Given the description of an element on the screen output the (x, y) to click on. 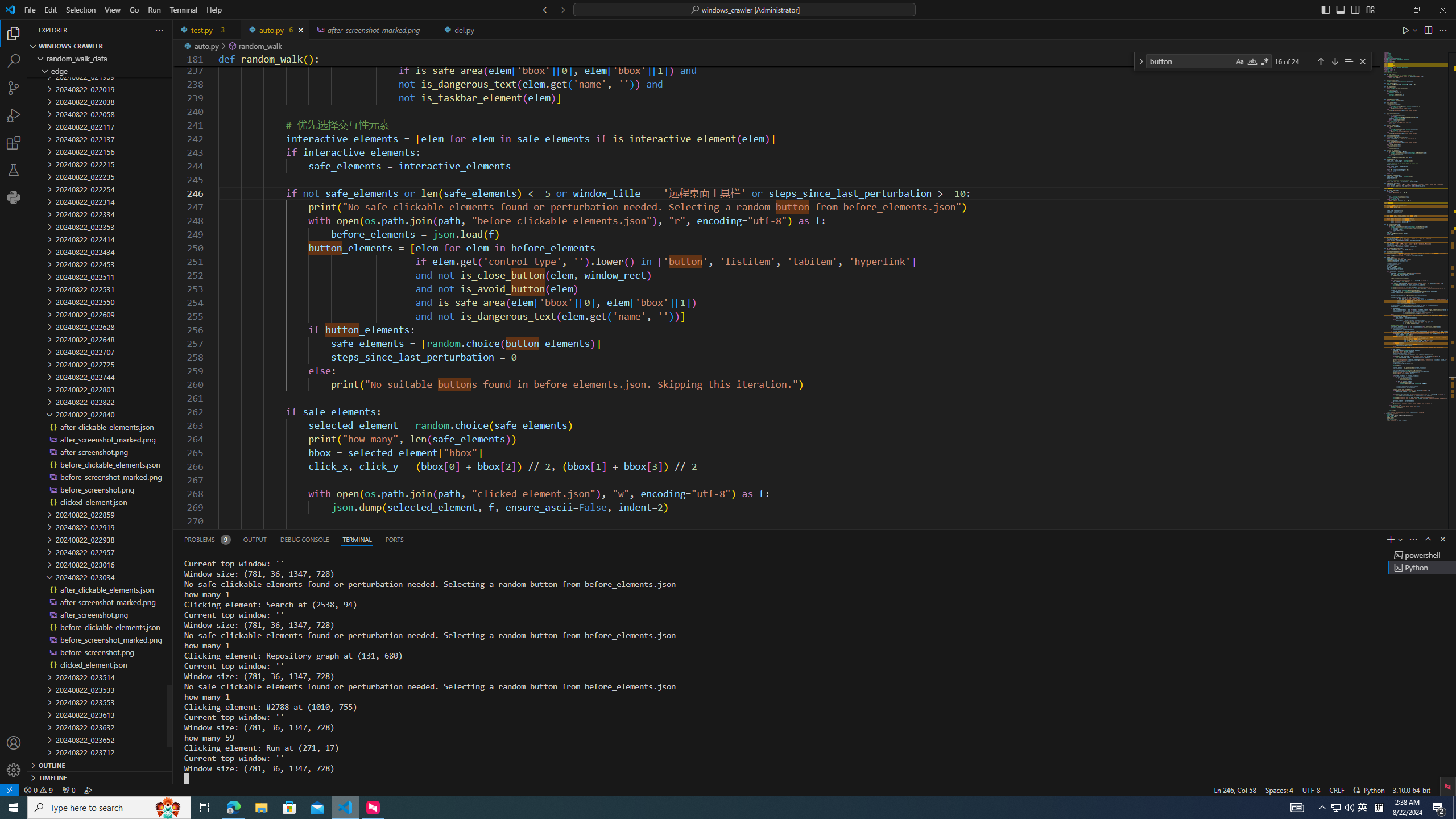
Explorer actions (118, 29)
Views and More Actions... (1412, 539)
Problems (Ctrl+Shift+M) - Total 9 Problems (206, 539)
Source Control (Ctrl+Shift+G) (13, 87)
Go Back (Alt+LeftArrow) (546, 9)
Toggle Secondary Side Bar (Ctrl+Alt+B) (1355, 9)
Search (Ctrl+Shift+F) (13, 60)
Toggle Replace (1140, 61)
Next Match (Enter) (1333, 60)
Explorer (Ctrl+Shift+E) (13, 33)
Timeline Section (99, 777)
Toggle Panel (Ctrl+J) (1339, 9)
File (30, 9)
Find in Selection (Alt+L) (1348, 60)
UTF-8 (1310, 789)
